Given the description of an element on the screen output the (x, y) to click on. 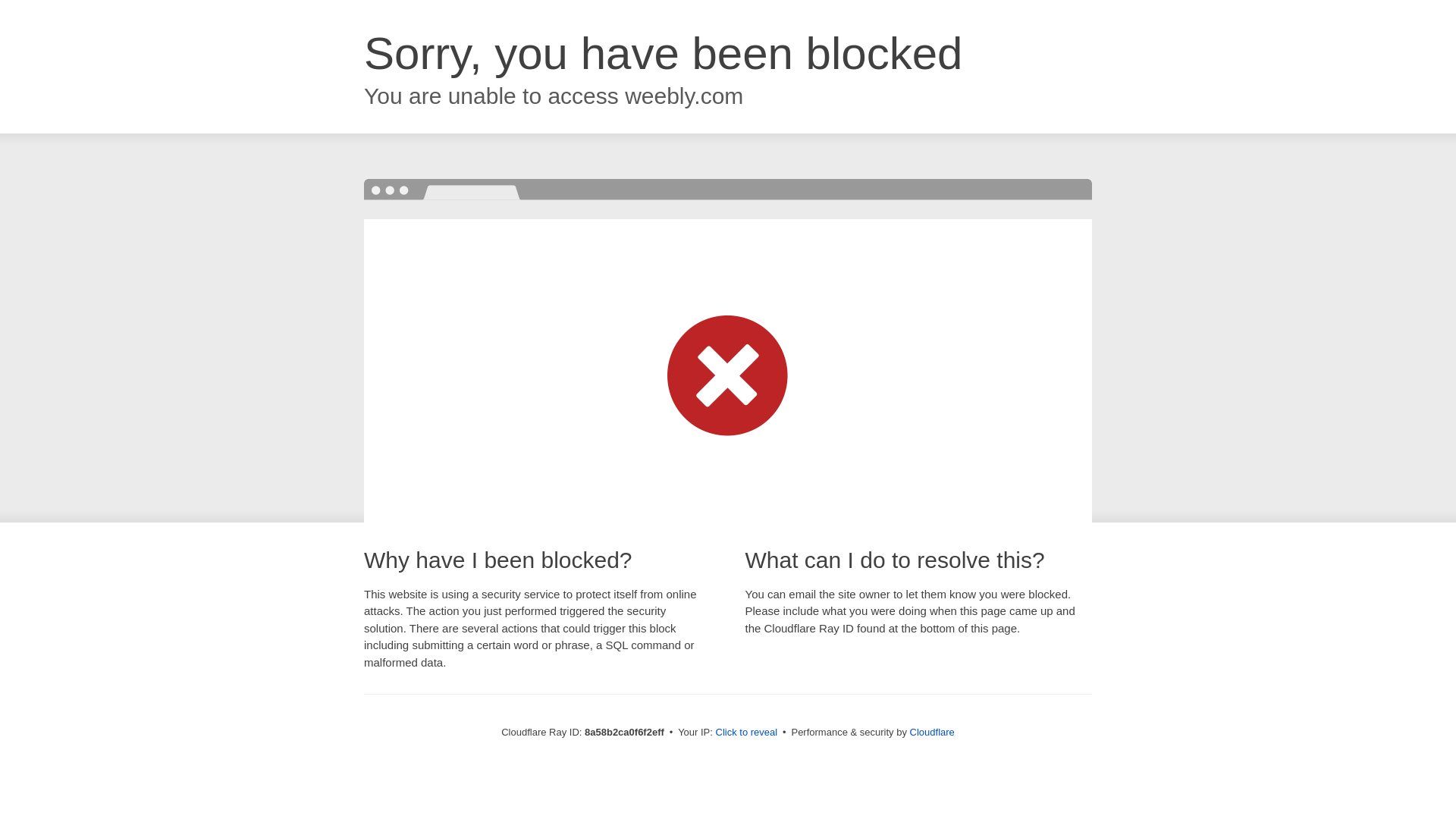
Click to reveal (746, 732)
Cloudflare (932, 731)
